Given the description of an element on the screen output the (x, y) to click on. 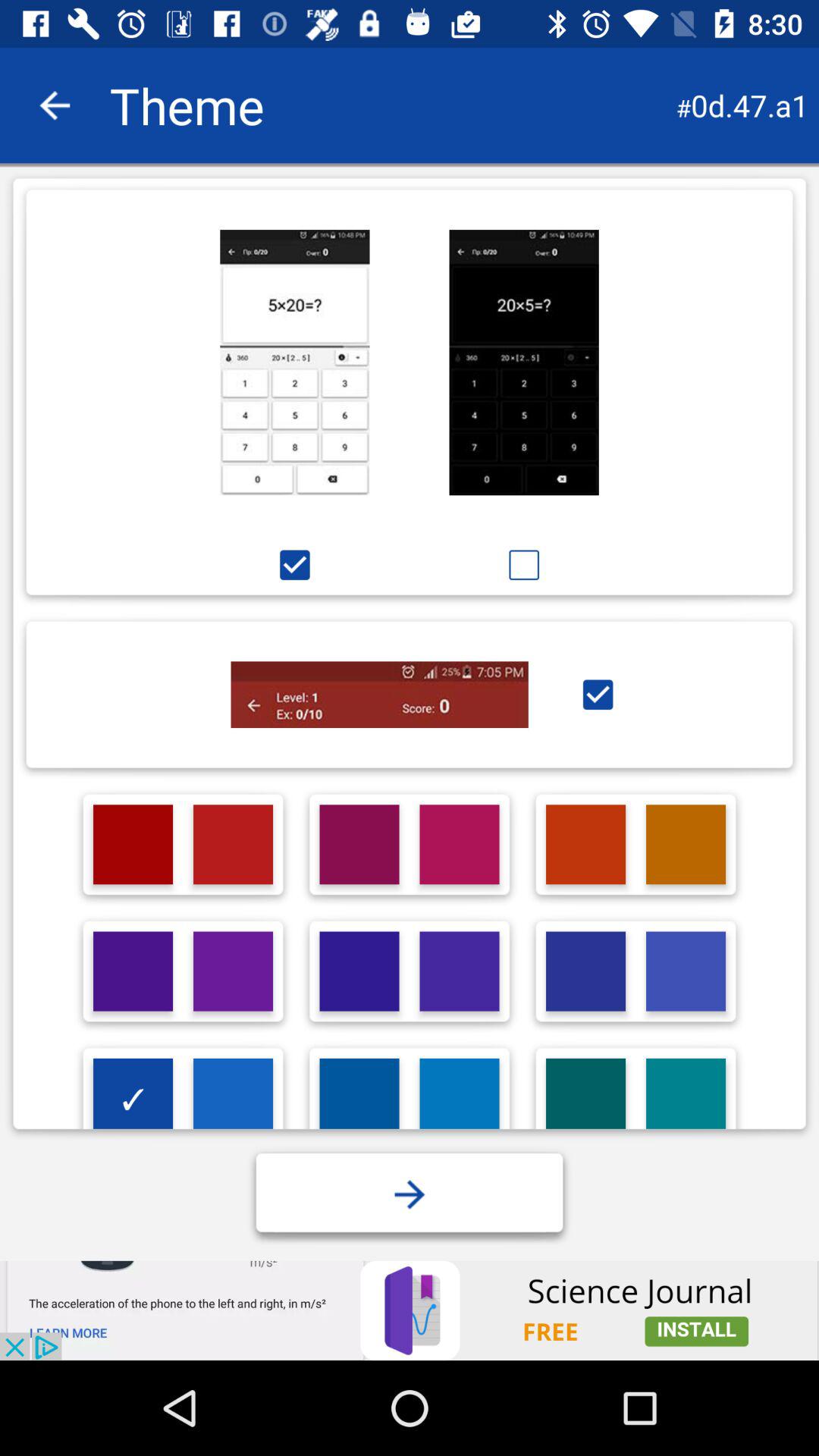
choose a colour (685, 844)
